Given the description of an element on the screen output the (x, y) to click on. 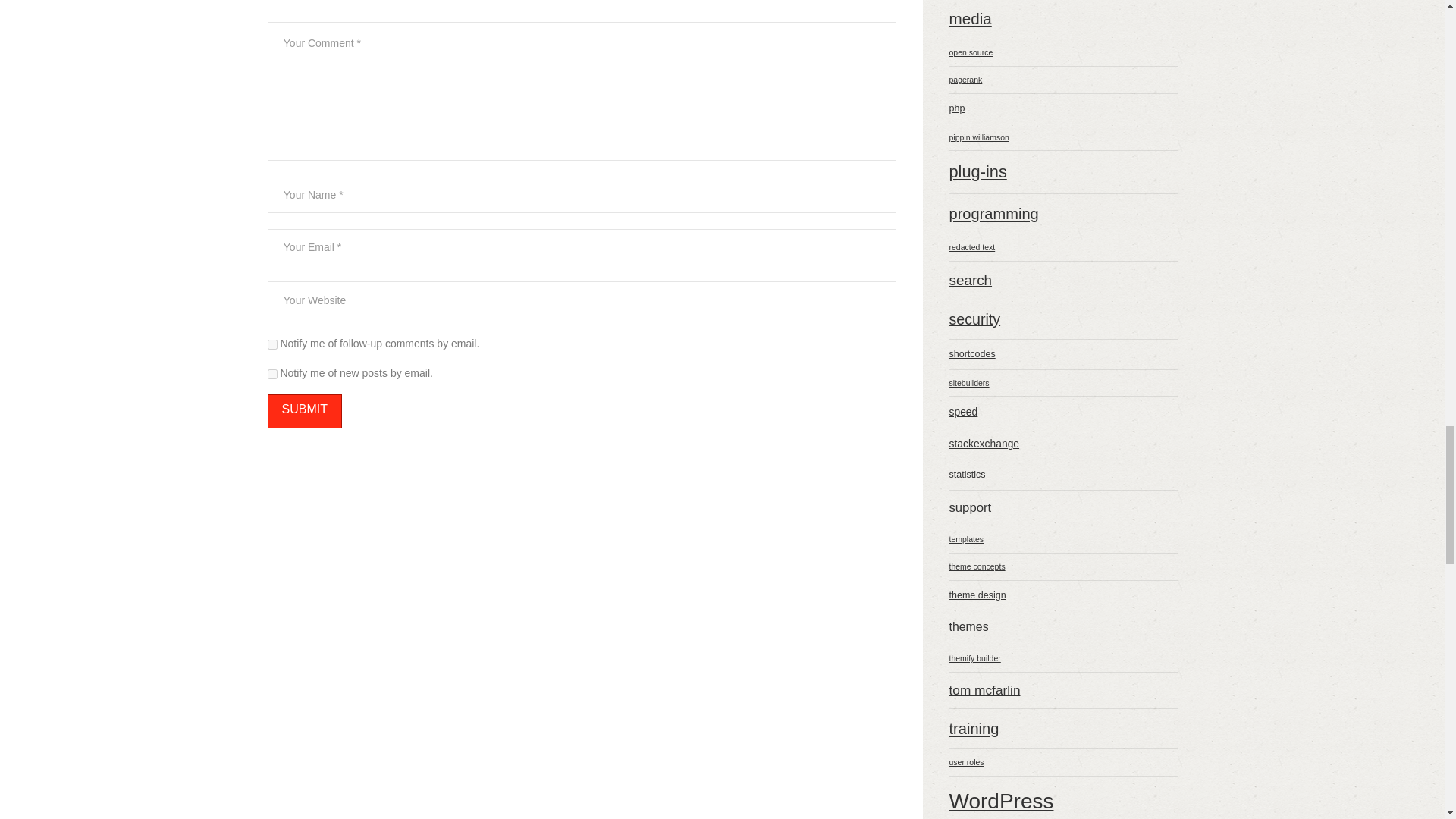
subscribe (271, 374)
Submit (303, 410)
subscribe (271, 344)
